Given the description of an element on the screen output the (x, y) to click on. 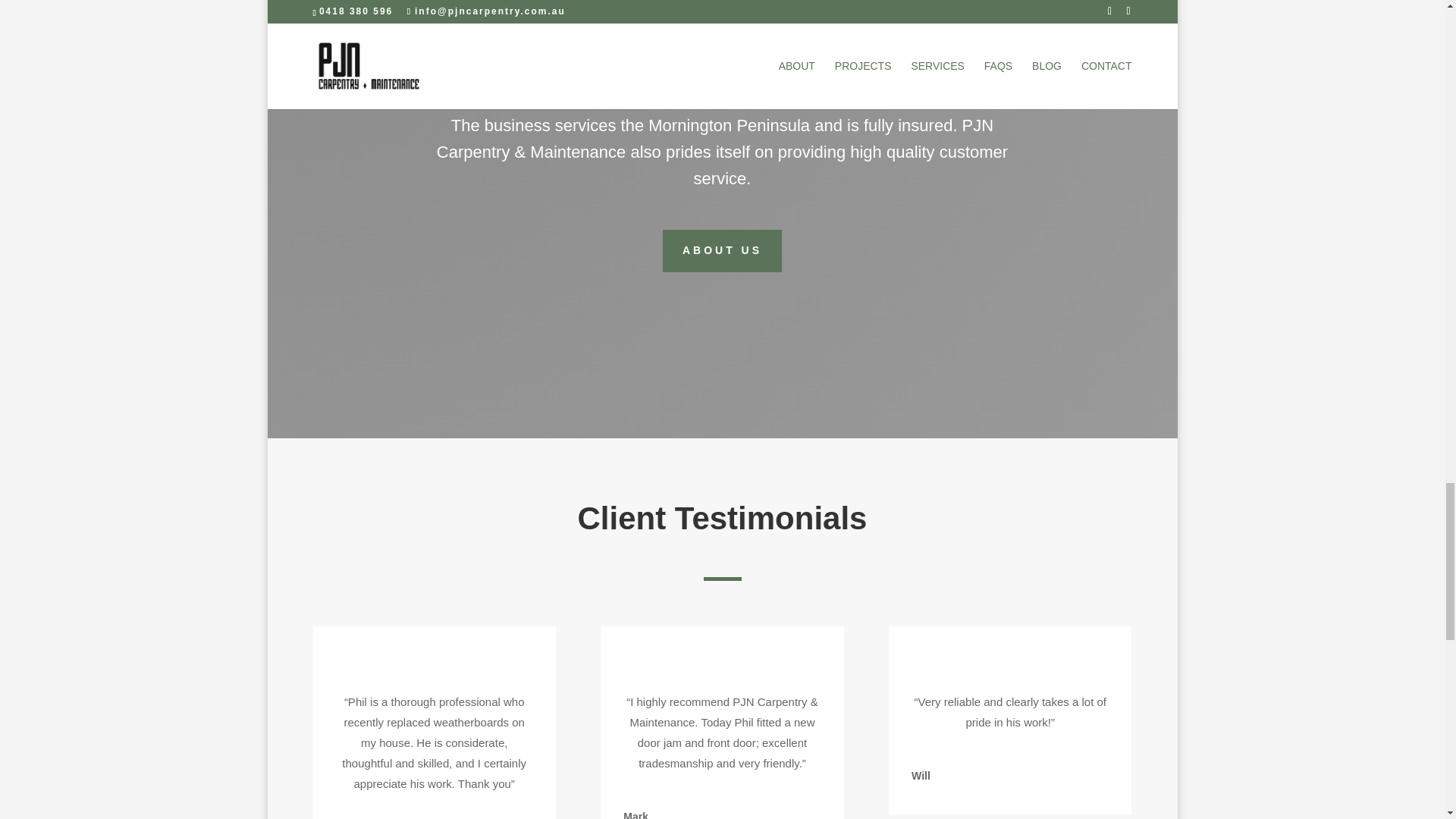
ABOUT US (721, 250)
